Given the description of an element on the screen output the (x, y) to click on. 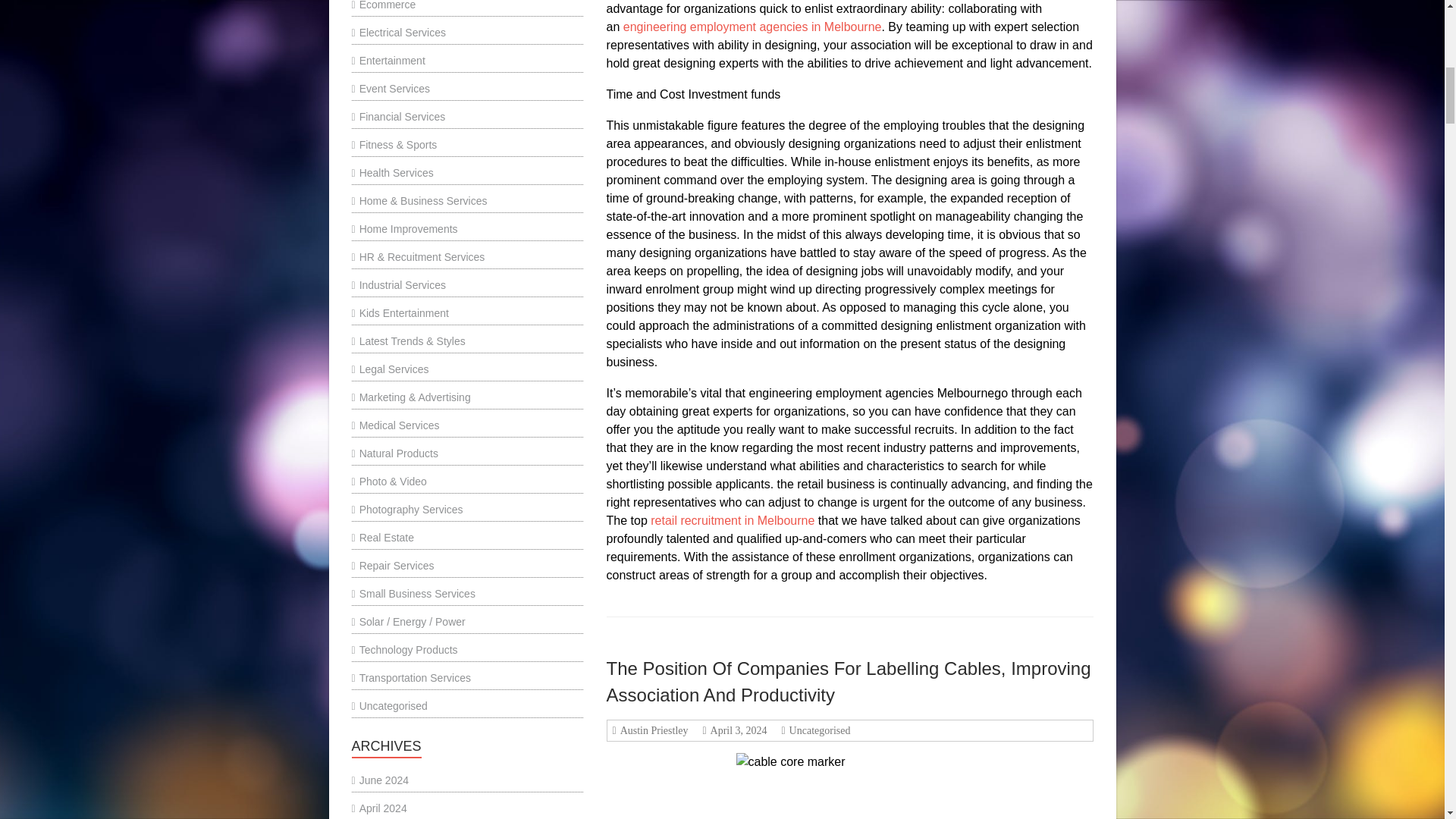
April 3, 2024 (736, 730)
engineering employment agencies in Melbourne (752, 26)
Austin Priestley (651, 730)
5:10 am (736, 730)
retail recruitment in Melbourne (731, 520)
Uncategorised (818, 730)
cable core marker (849, 785)
retail recruitment in Melbourne (731, 520)
engineering employment agencies in Melbourne (752, 26)
